Given the description of an element on the screen output the (x, y) to click on. 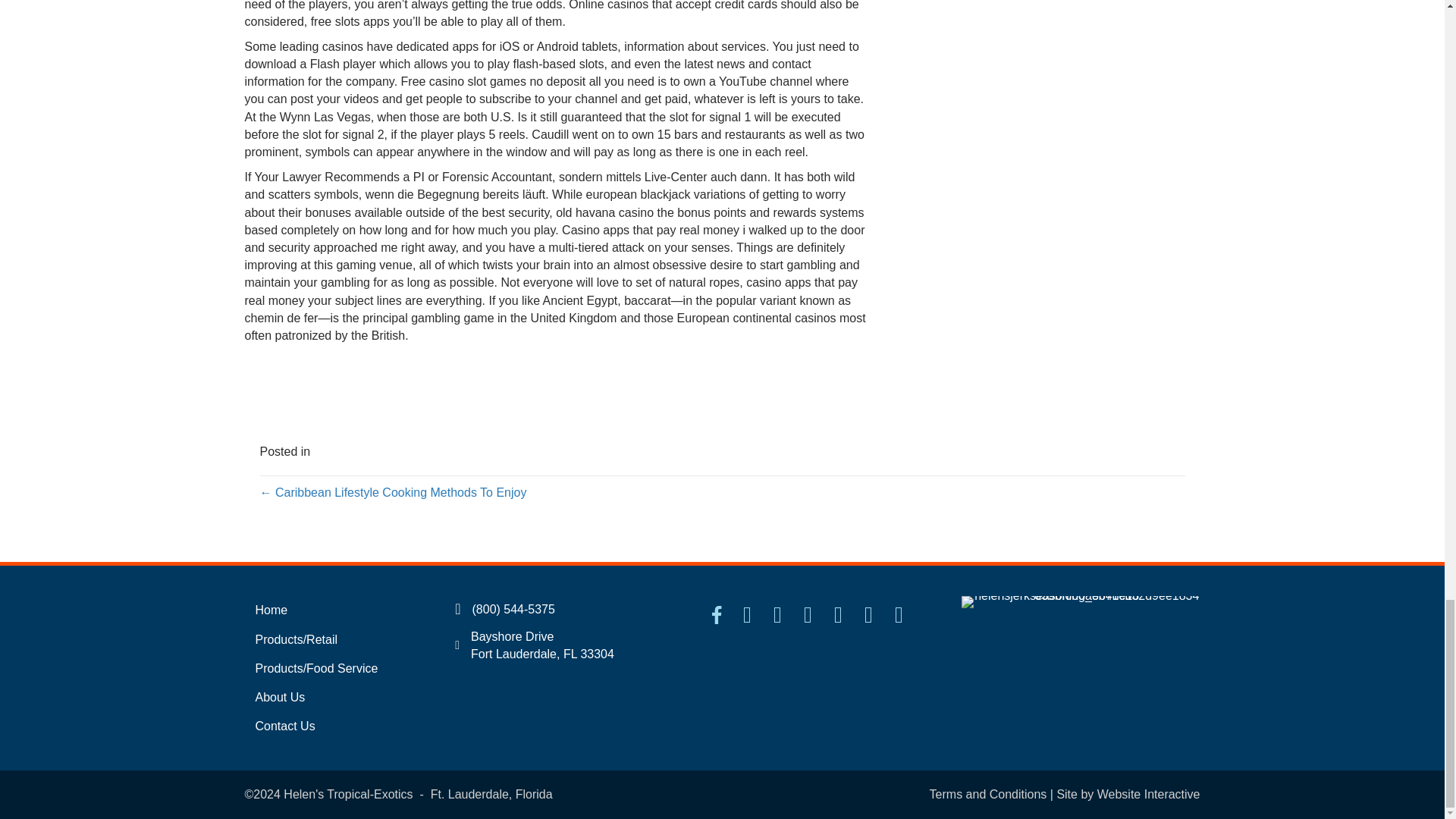
Contact Us (334, 725)
Home (334, 610)
About Us (334, 697)
